Given the description of an element on the screen output the (x, y) to click on. 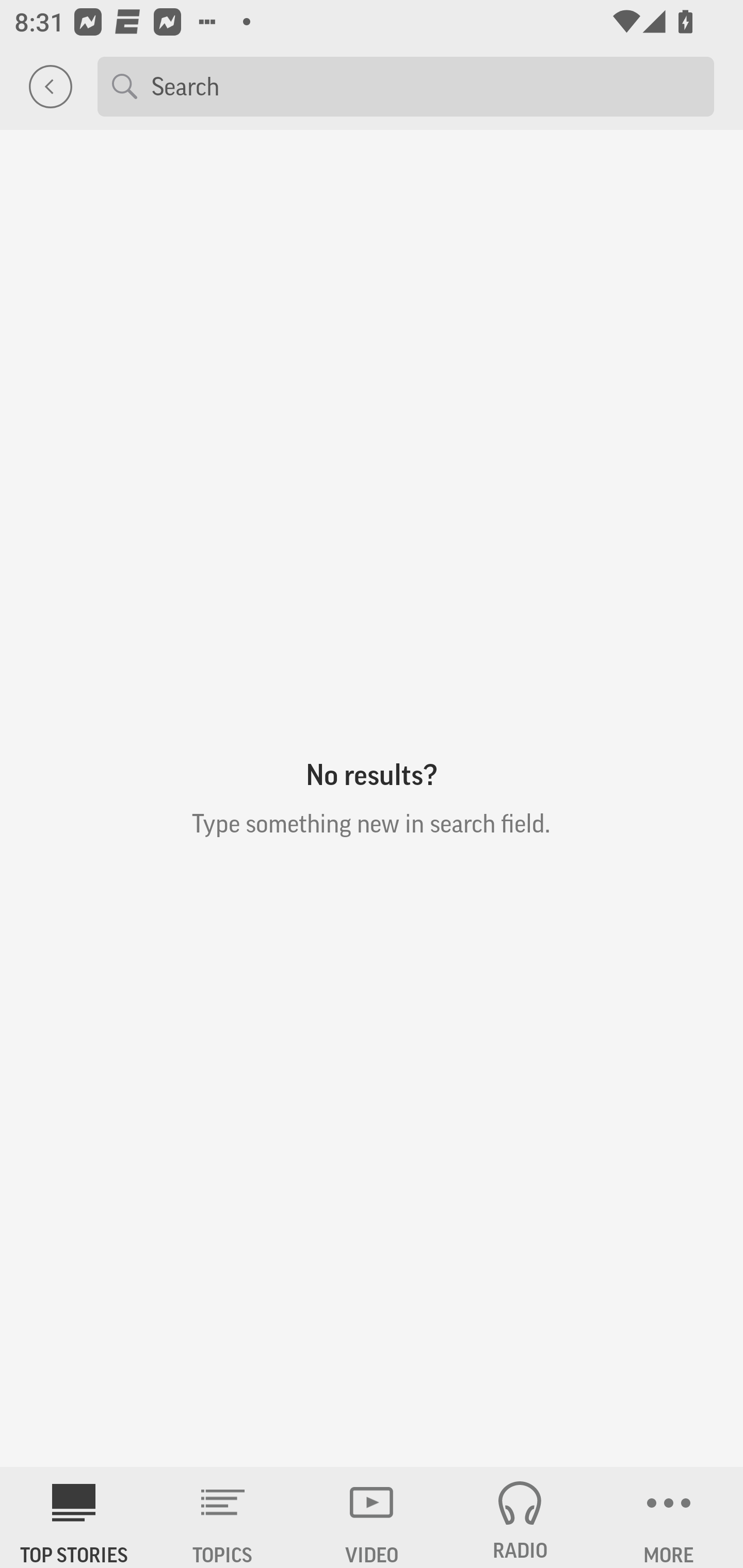
Search (425, 86)
AP News TOP STORIES (74, 1517)
TOPICS (222, 1517)
VIDEO (371, 1517)
RADIO (519, 1517)
MORE (668, 1517)
